Given the description of an element on the screen output the (x, y) to click on. 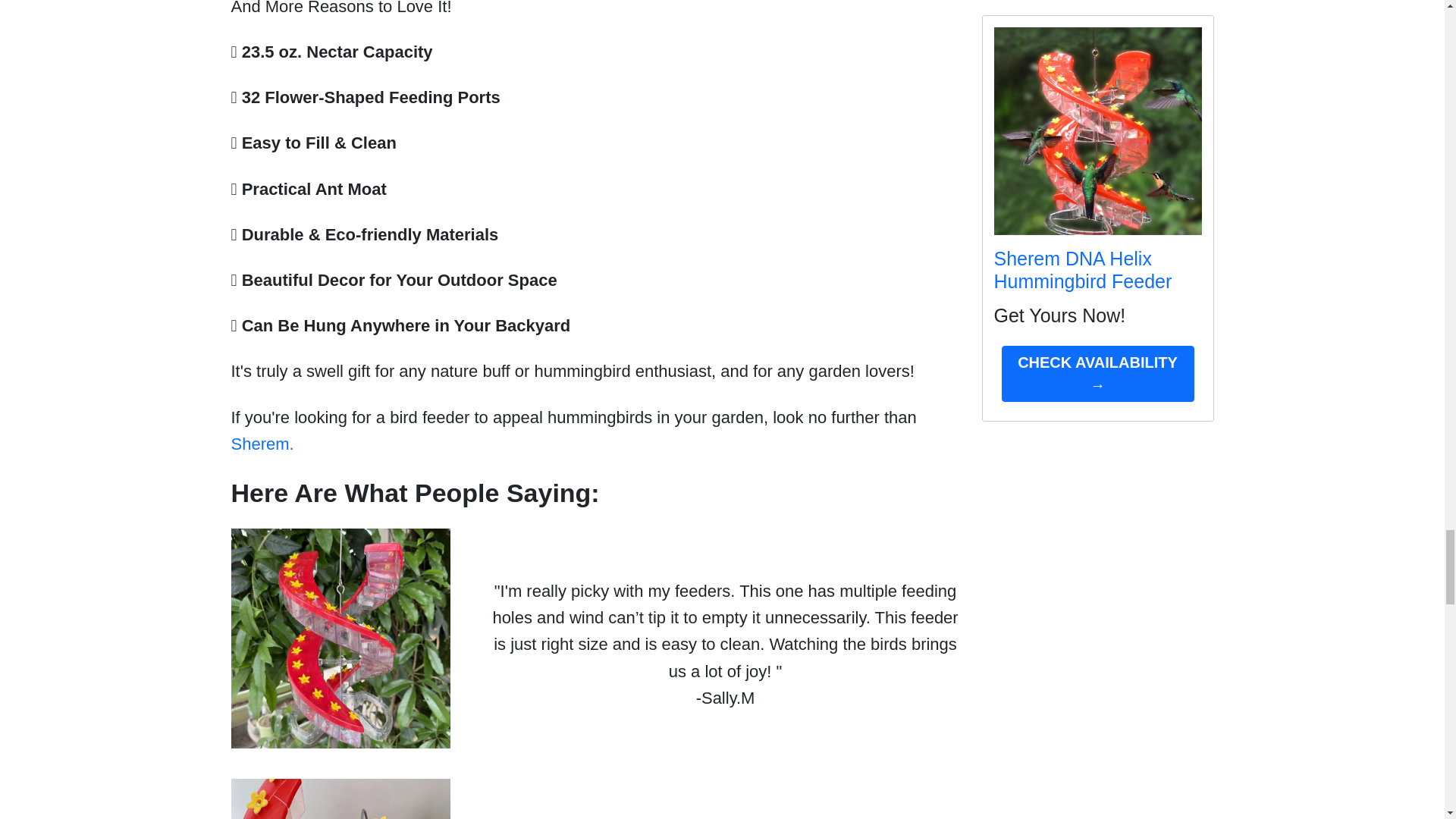
Sherem. (262, 443)
